Given the description of an element on the screen output the (x, y) to click on. 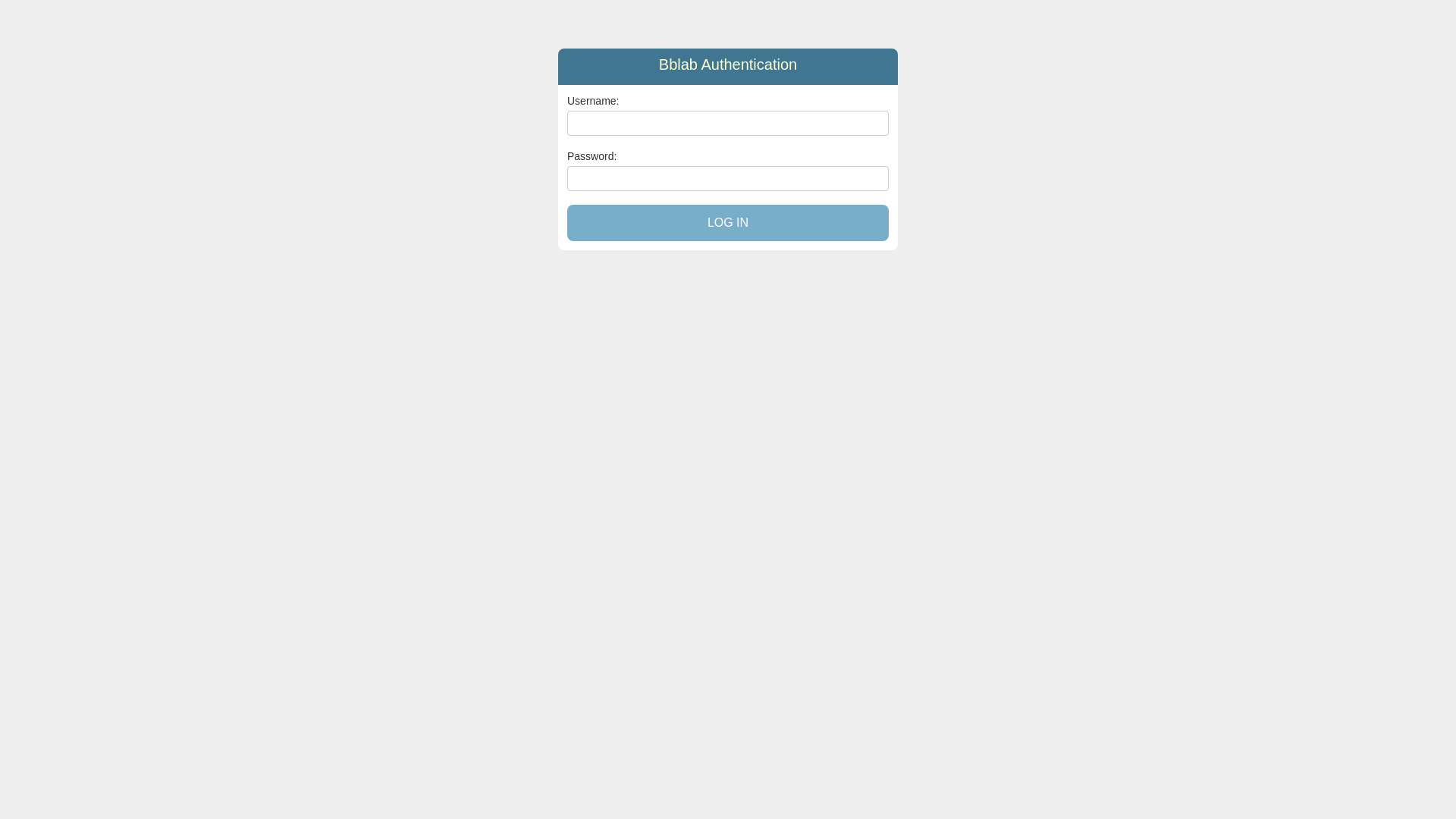
LOG IN Element type: text (727, 222)
